Given the description of an element on the screen output the (x, y) to click on. 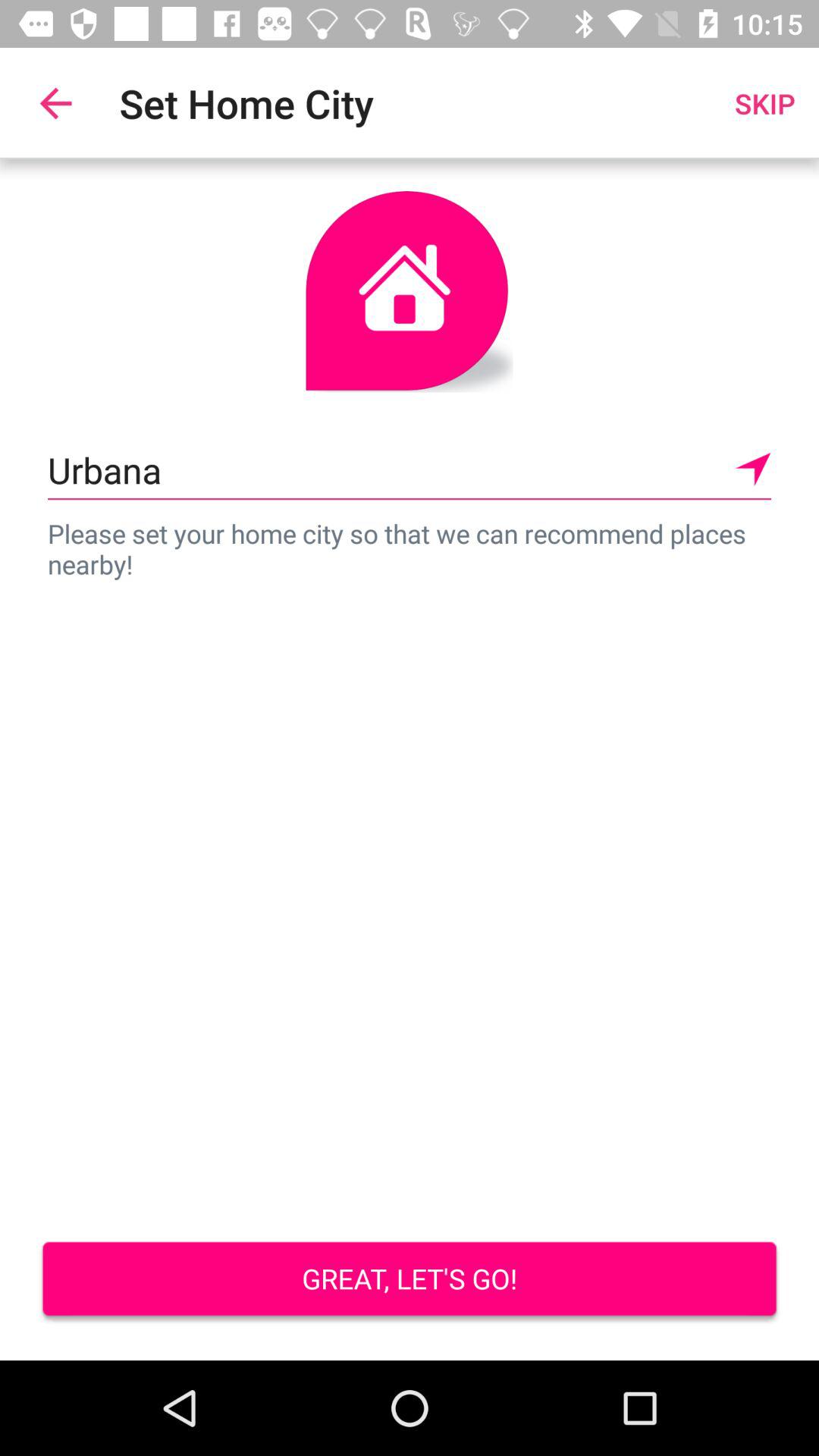
click the icon to the right of set home city icon (764, 103)
